Given the description of an element on the screen output the (x, y) to click on. 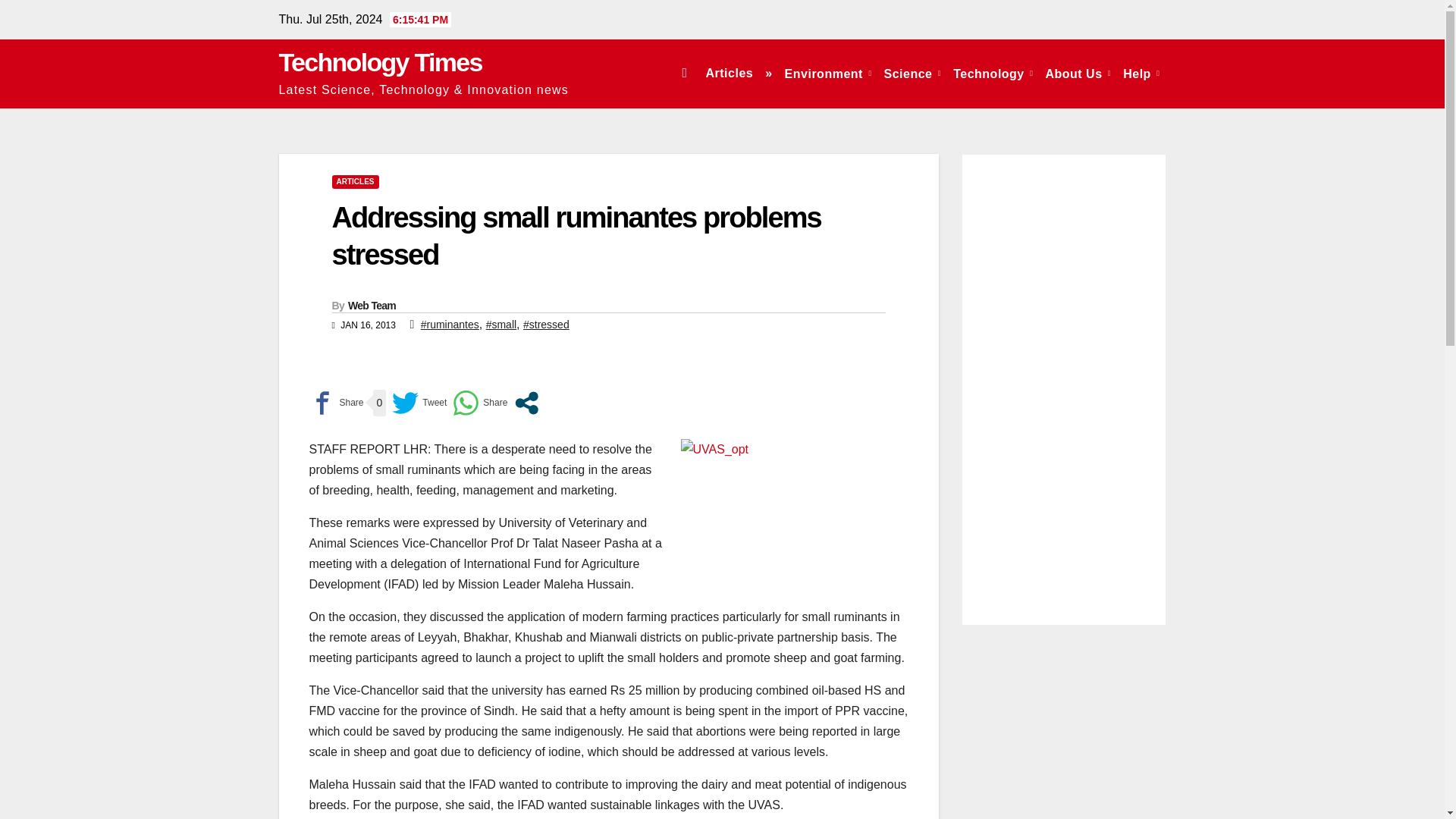
Technology (993, 73)
Environment (827, 73)
Environment (827, 73)
Science (912, 73)
Science (912, 73)
Technology (993, 73)
About Us (1077, 73)
Technology Times (380, 61)
